Given the description of an element on the screen output the (x, y) to click on. 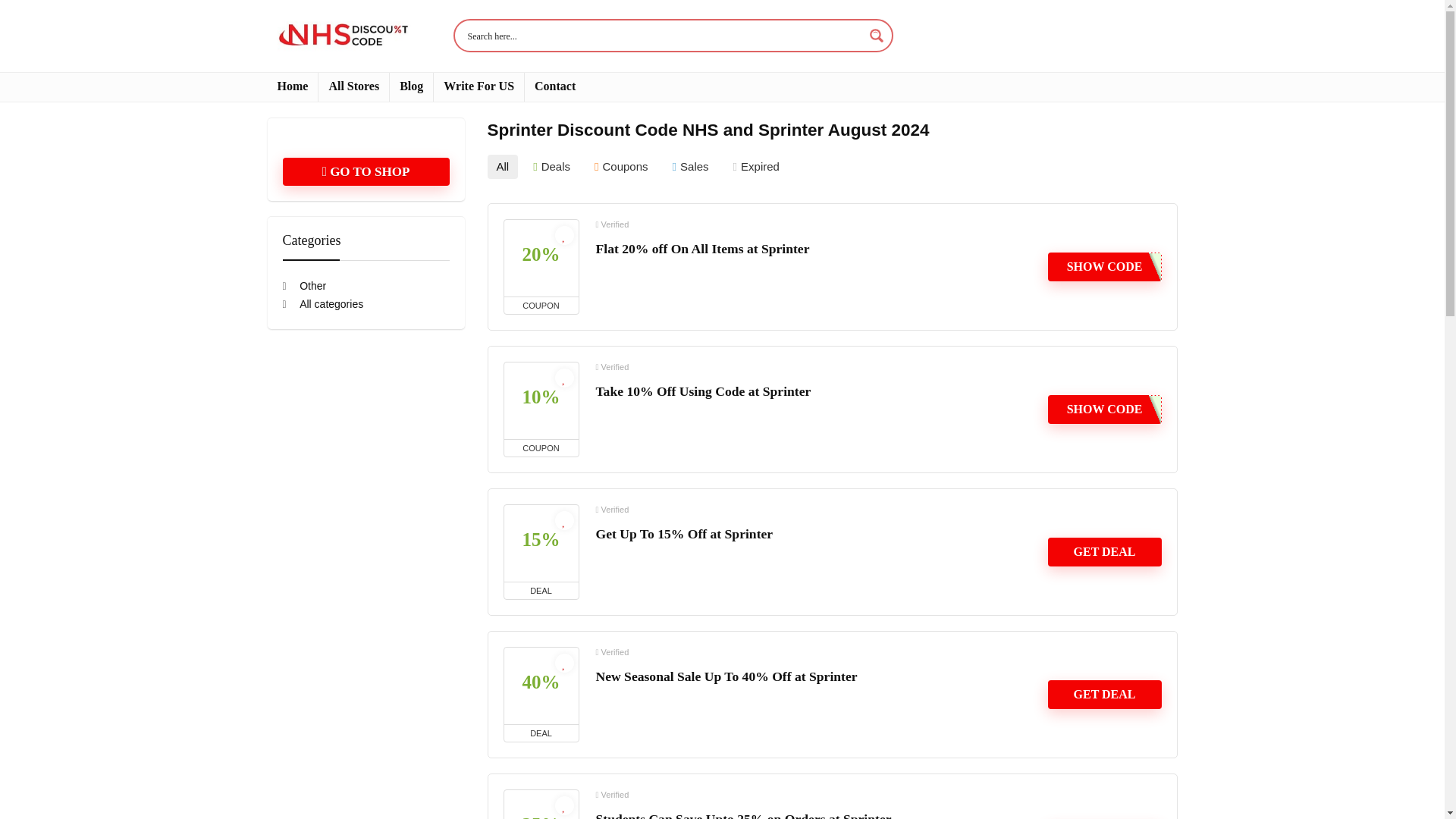
Write For US (478, 86)
GET DEAL (1104, 694)
Other (304, 285)
GET DEAL (1104, 551)
All Stores (353, 86)
Contact (554, 86)
Blog (411, 86)
All categories (322, 304)
Home (291, 86)
GO TO SHOP (365, 171)
